Given the description of an element on the screen output the (x, y) to click on. 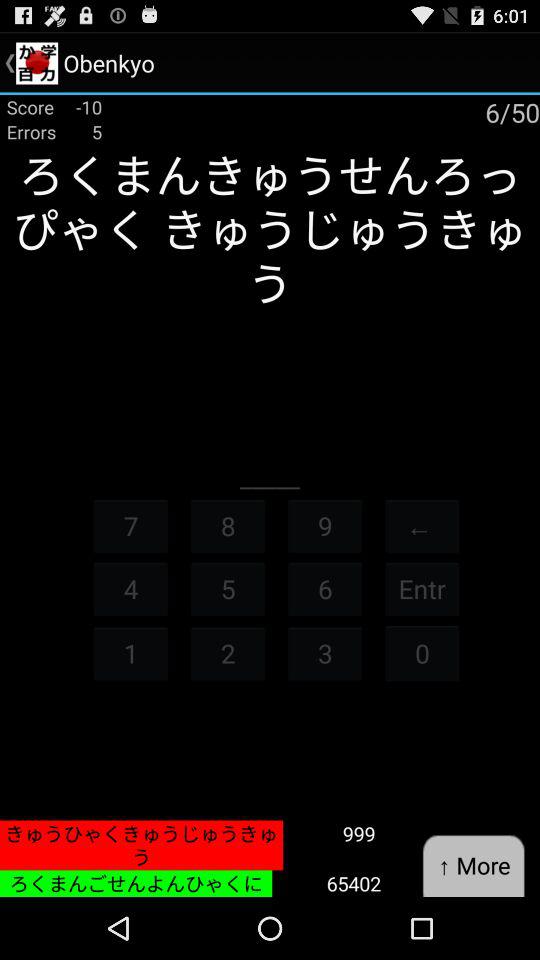
turn on item below the 6 (325, 652)
